Given the description of an element on the screen output the (x, y) to click on. 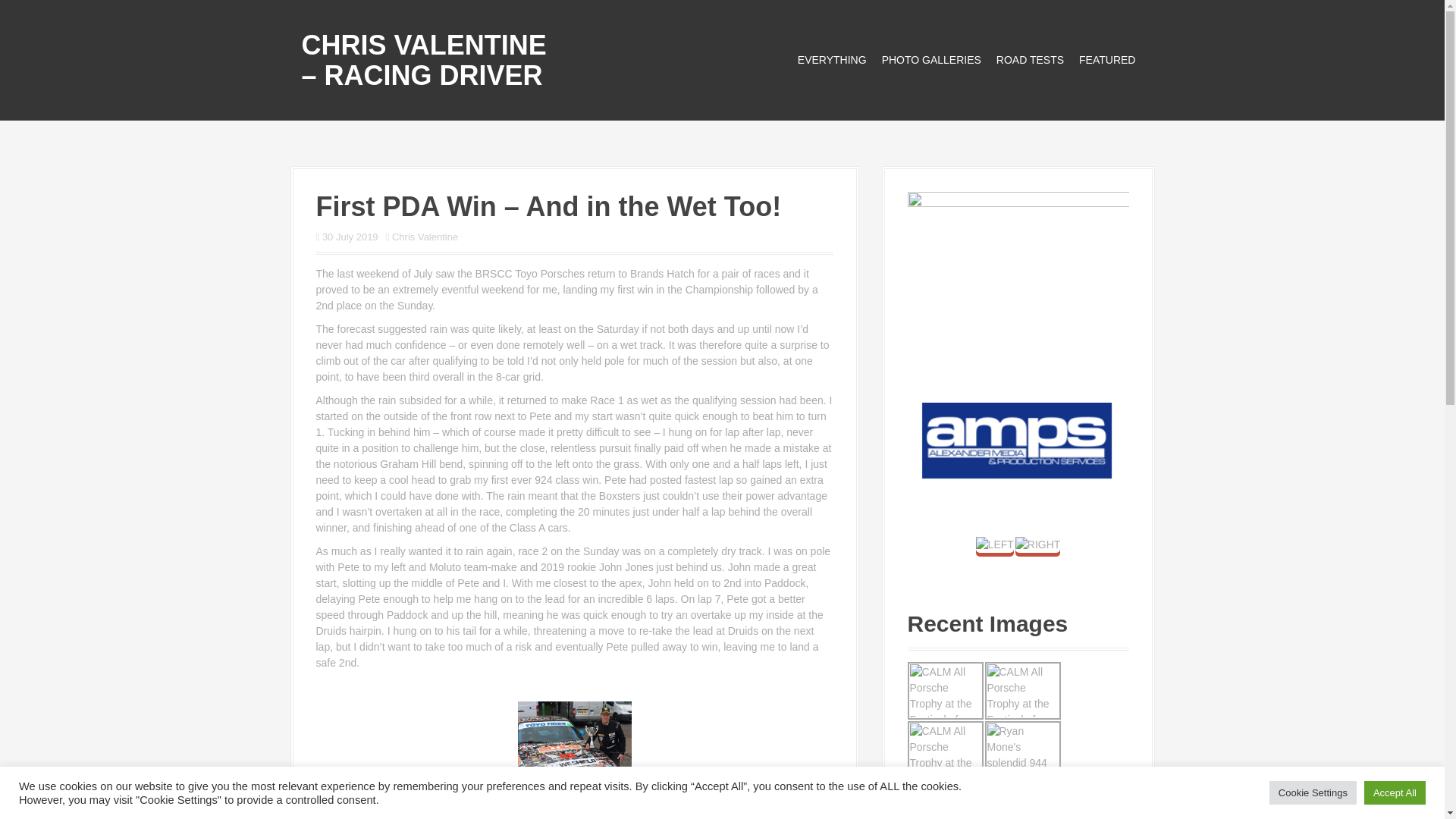
AMPS UK Ltd (1016, 440)
ROAD TESTS (1029, 59)
EVERYTHING (831, 59)
FEATURED (1106, 59)
PHOTO GALLERIES (931, 59)
30 July 2019 (349, 236)
Chris Valentine (424, 236)
